Given the description of an element on the screen output the (x, y) to click on. 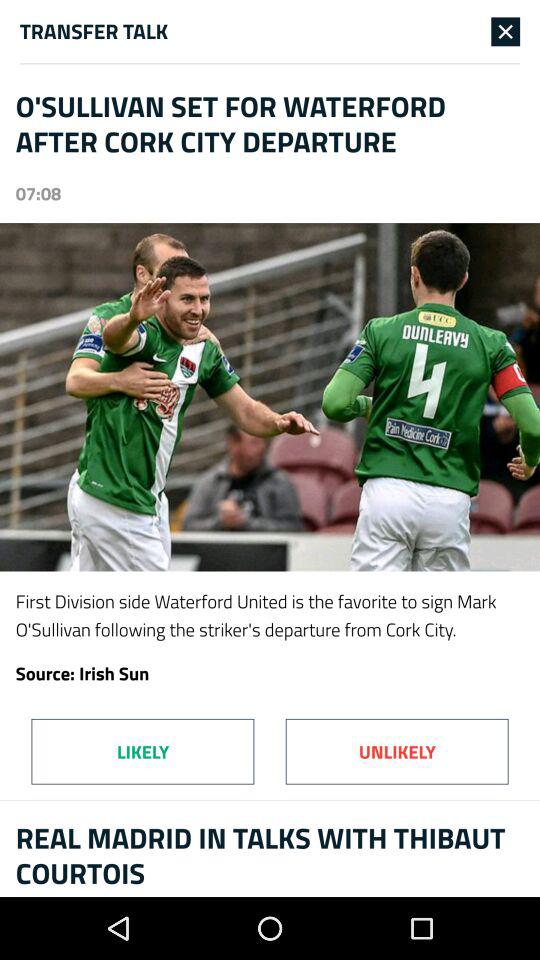
press unlikely (396, 751)
